Given the description of an element on the screen output the (x, y) to click on. 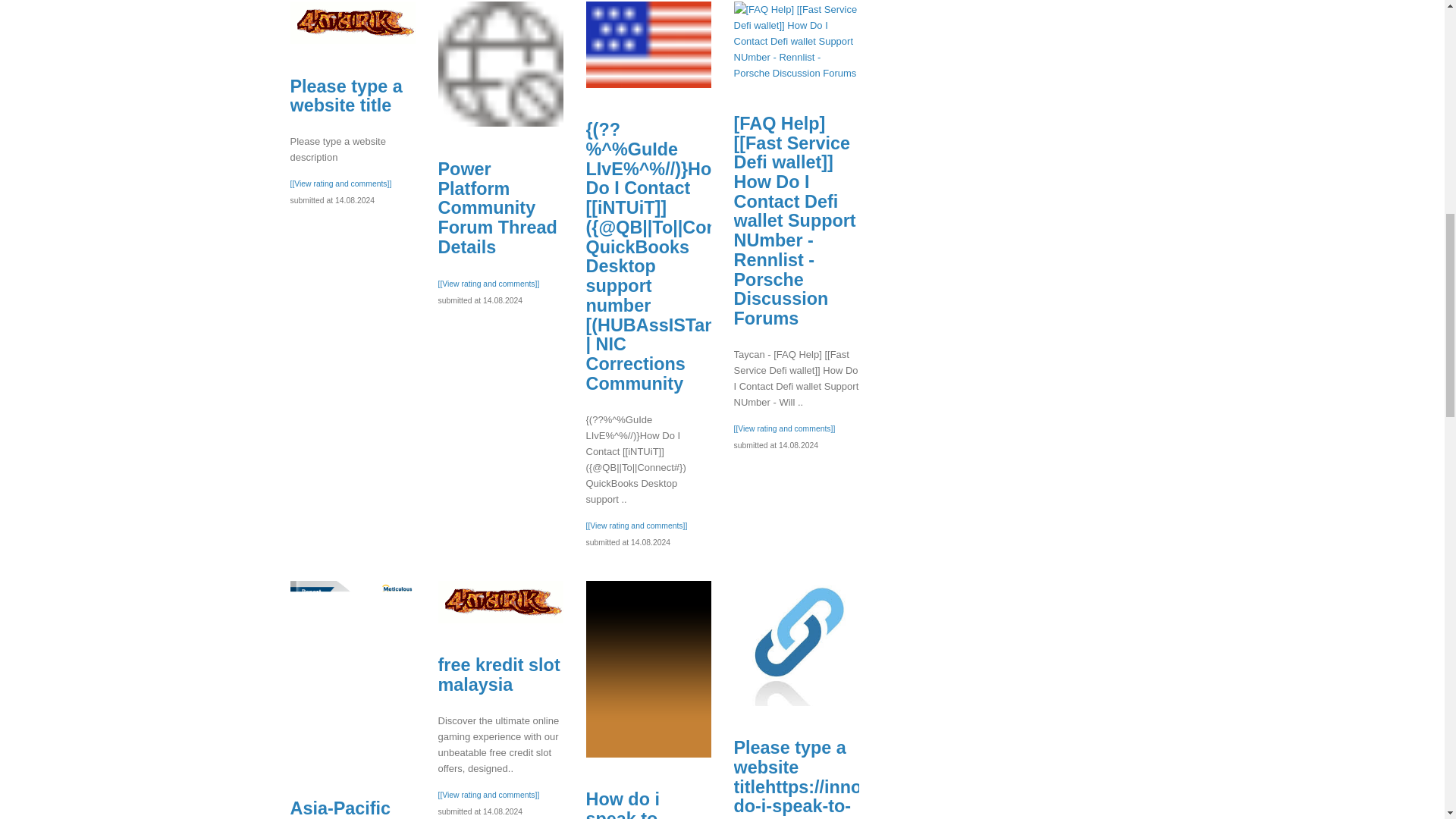
Please type a website title (345, 96)
Power Platform Community Forum Thread Details (497, 207)
Please type a website title (351, 22)
free kredit slot malaysia (500, 601)
free kredit slot malaysia (499, 674)
